Given the description of an element on the screen output the (x, y) to click on. 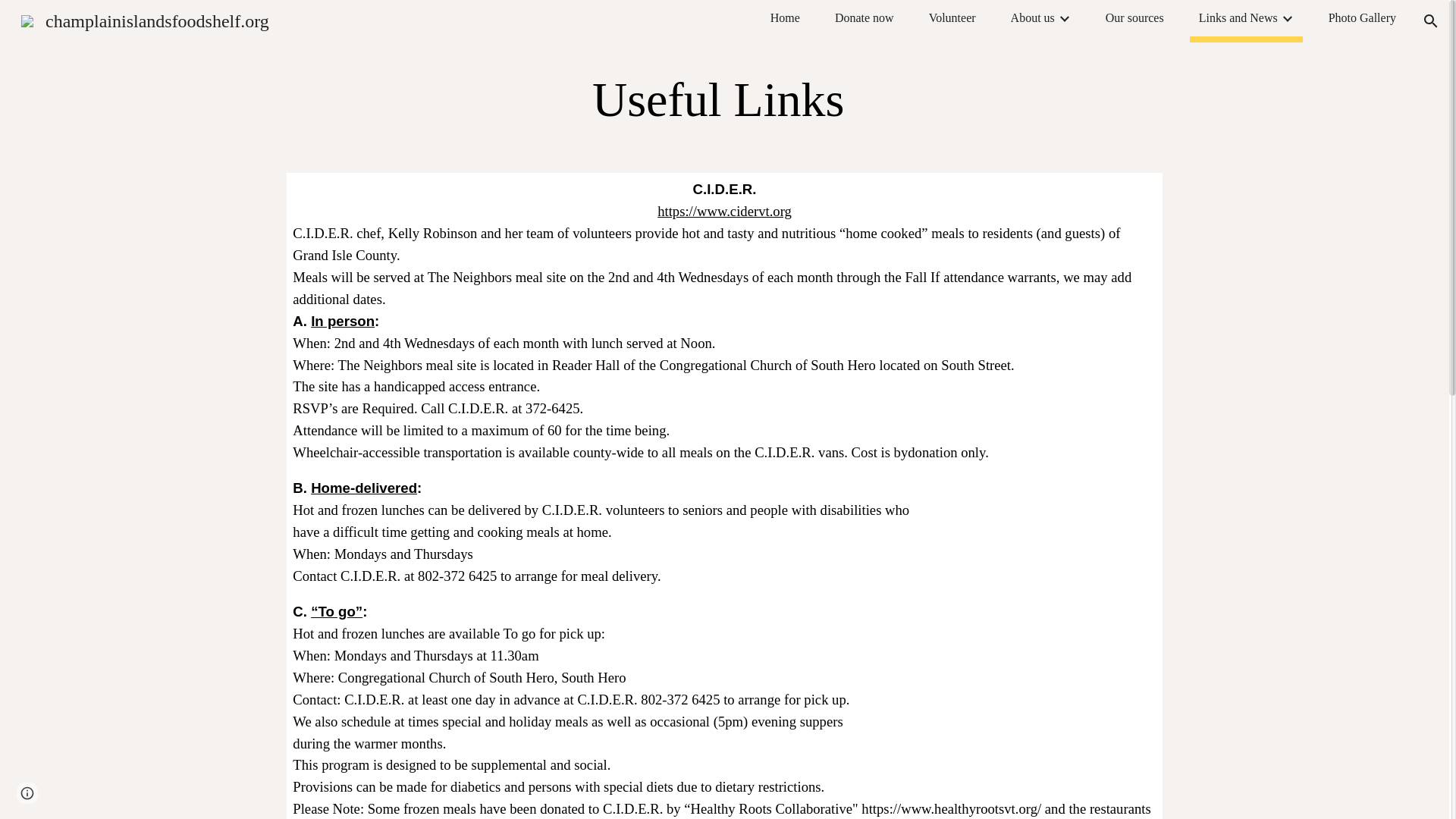
About us (1032, 17)
Donate now (863, 17)
Photo Gallery (1361, 17)
Home (784, 17)
Links and News (1238, 17)
Volunteer (951, 17)
Our sources (1134, 17)
champlainislandsfoodshelf.org (144, 19)
